Given the description of an element on the screen output the (x, y) to click on. 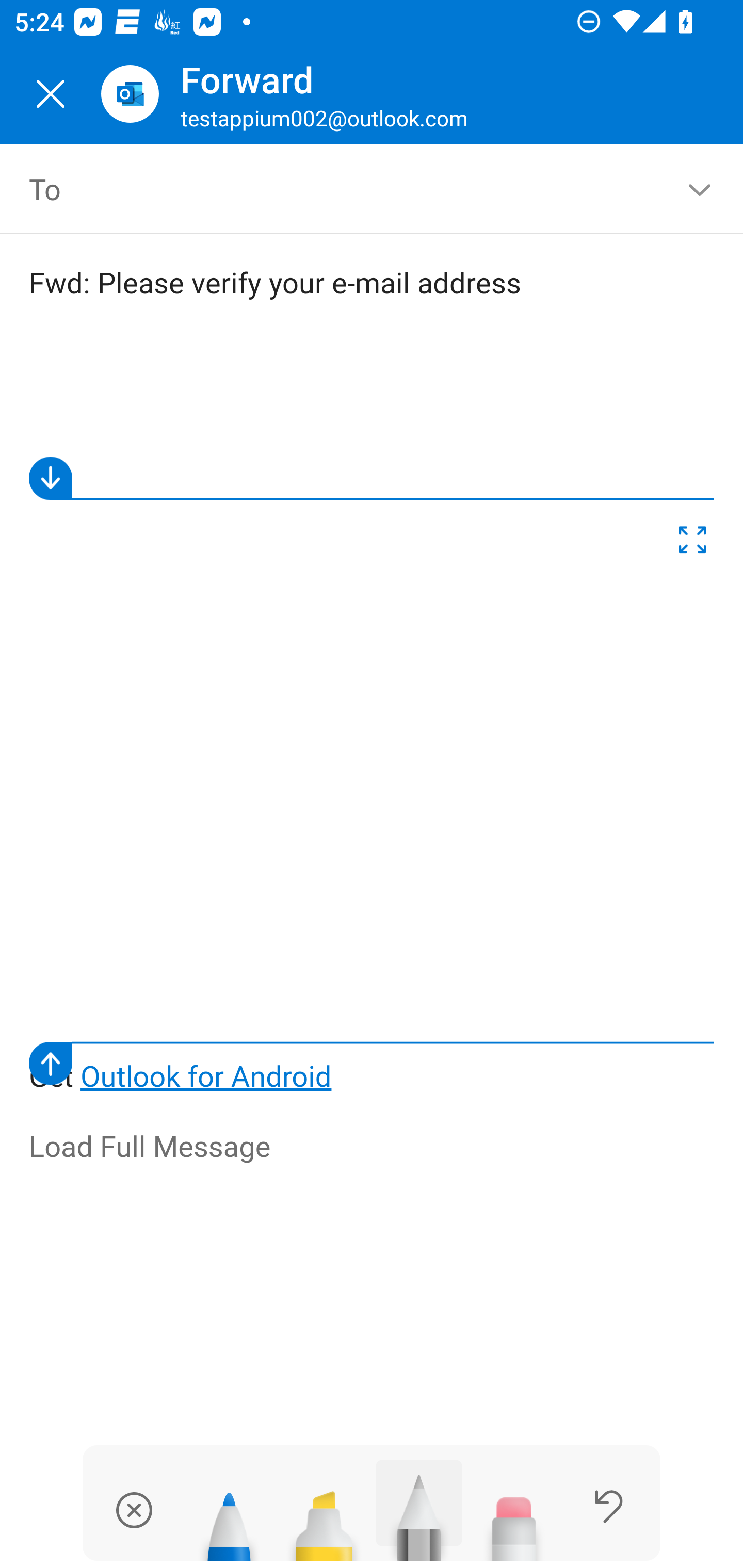
Close (50, 93)
Fwd: Please verify your e-mail address (342, 281)


Get Outlook for Android (372, 726)
Canvas upper bound (371, 478)
Expand Drawing (692, 544)
Canvas Lower Bound (371, 1063)
Load Full Message (372, 1146)
Pencil tool (418, 1509)
Undo last stroke (608, 1505)
dismiss ink and save drawing (133, 1510)
Pen tool (228, 1517)
Highlighter tool (323, 1517)
Eraser tool (513, 1517)
